Given the description of an element on the screen output the (x, y) to click on. 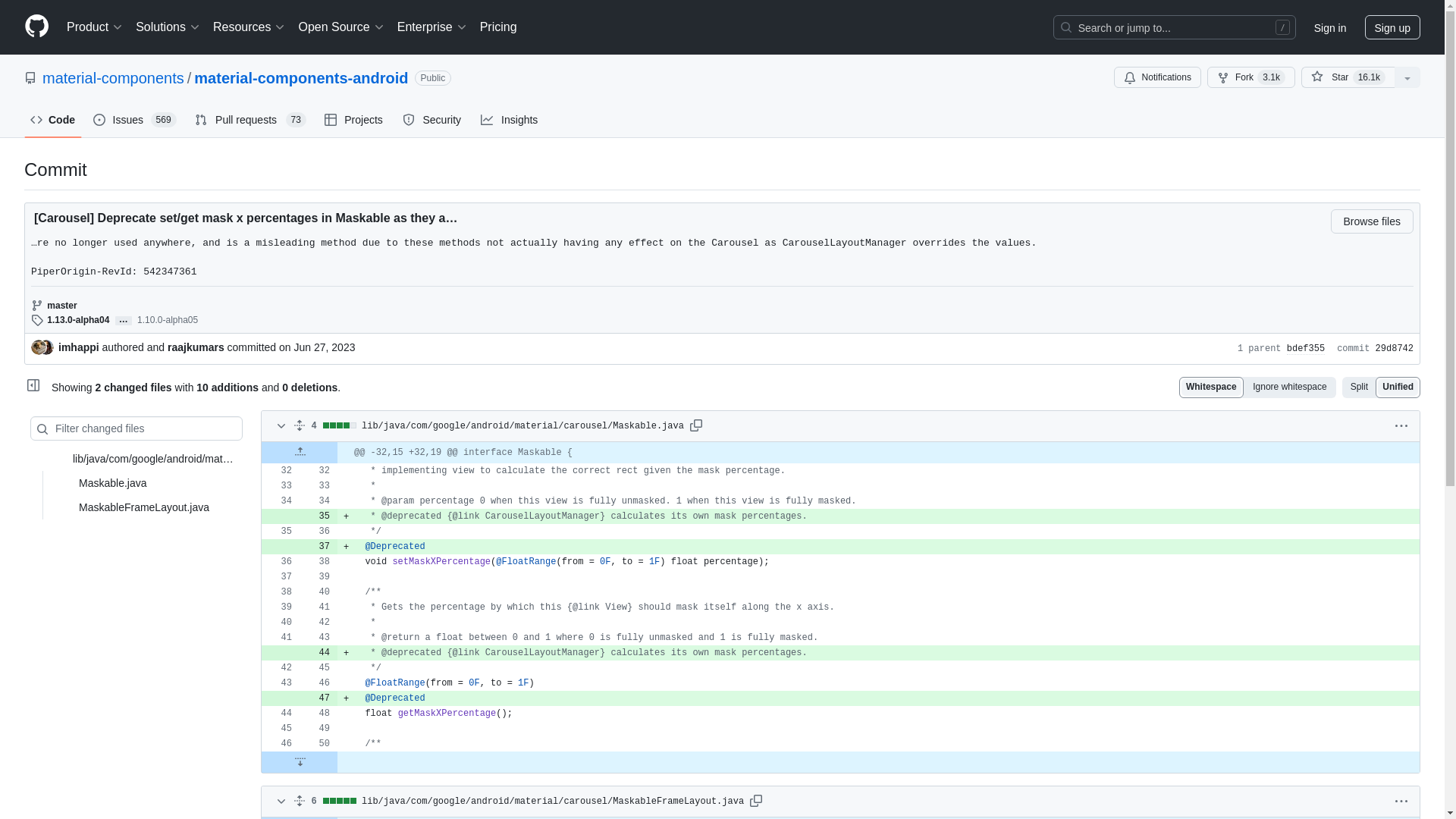
Solutions (167, 27)
73 (295, 119)
View all commits by raajkumars (195, 346)
16,139 (1369, 77)
569 (163, 119)
3,053 (1271, 77)
modified (229, 482)
View all commits by imhappi (78, 346)
Resources (249, 27)
Product (95, 27)
Open Source (341, 27)
modified (229, 507)
